Given the description of an element on the screen output the (x, y) to click on. 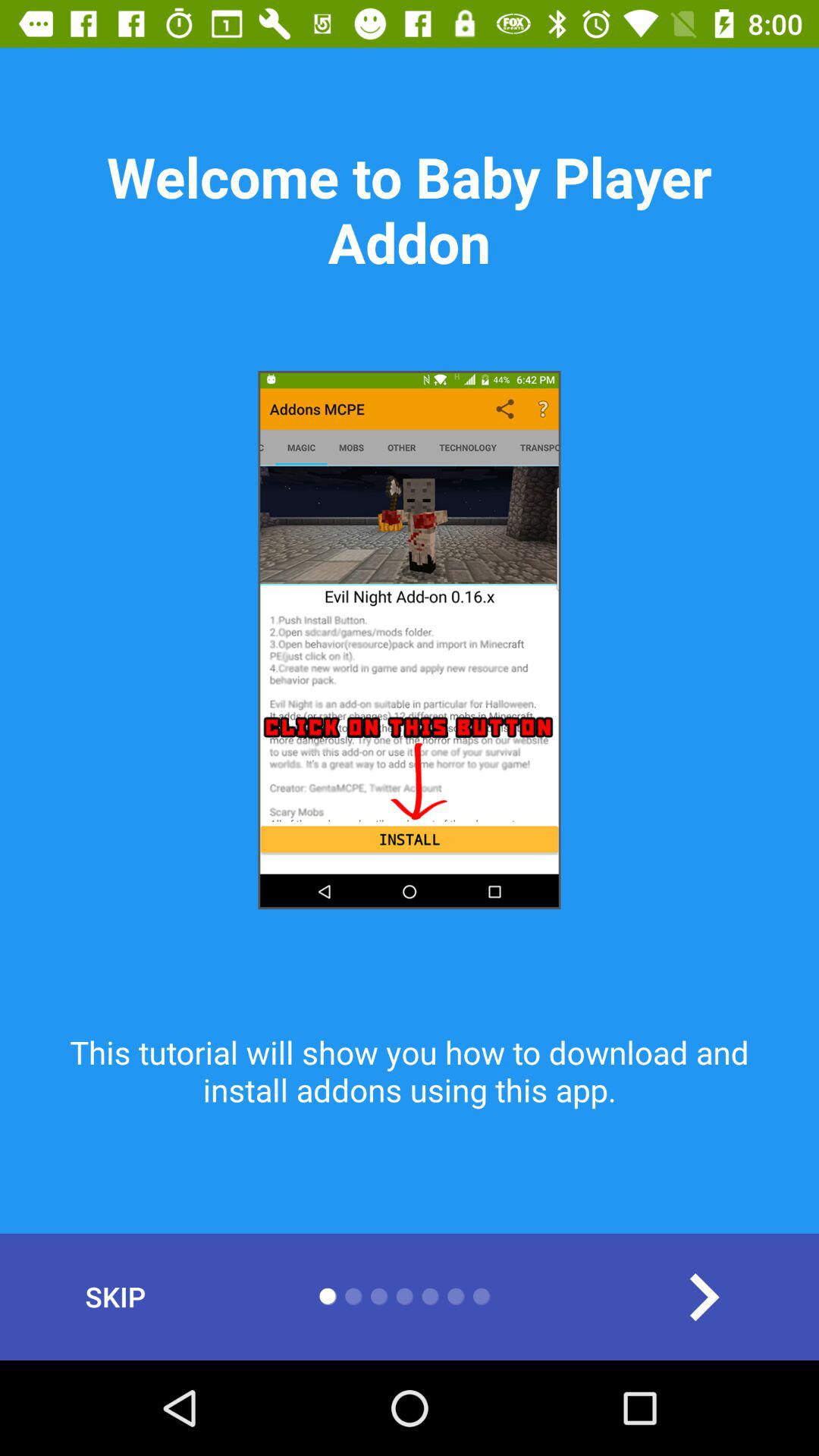
click skip icon (114, 1296)
